Given the description of an element on the screen output the (x, y) to click on. 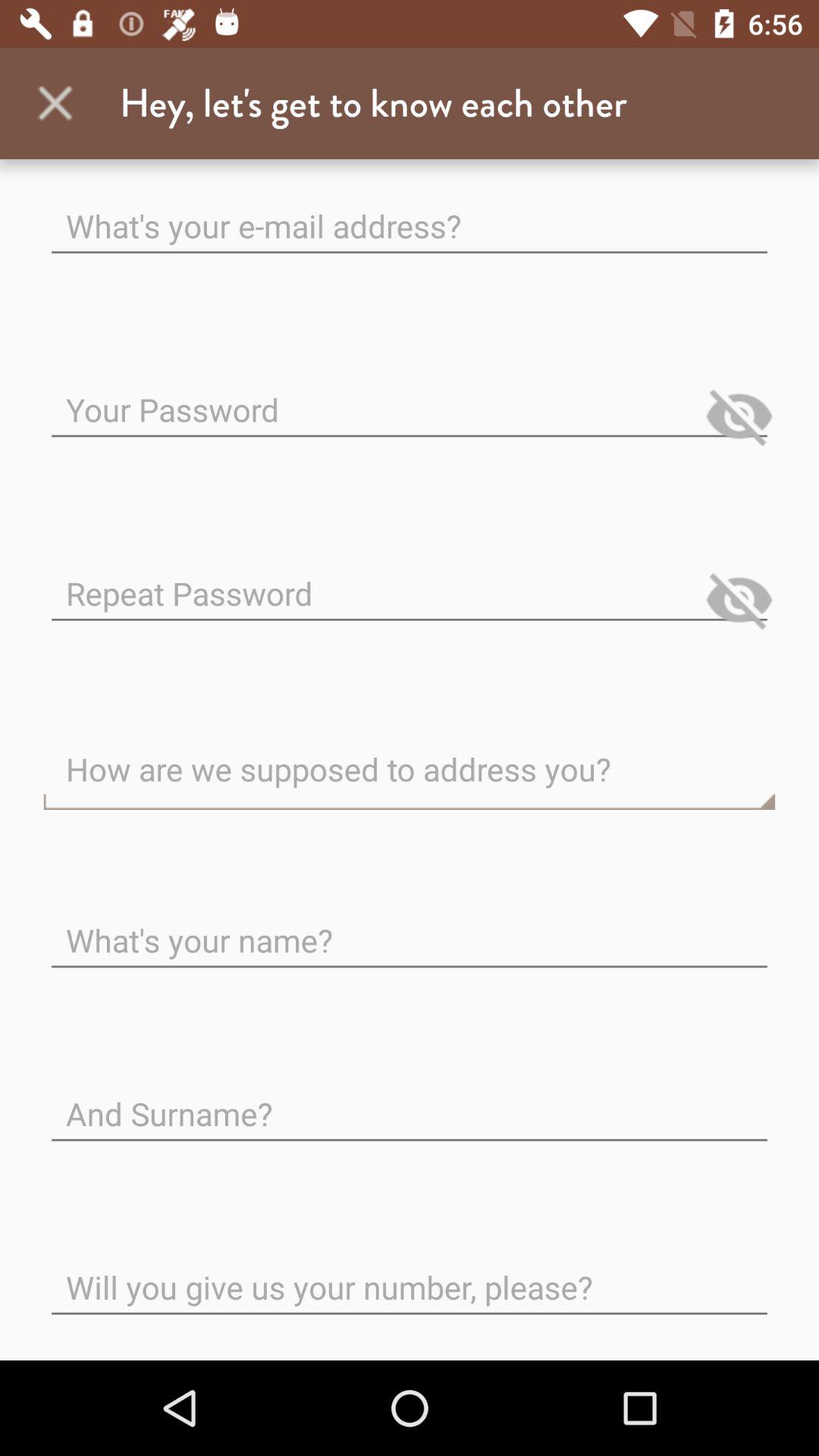
reenter password (409, 581)
